Given the description of an element on the screen output the (x, y) to click on. 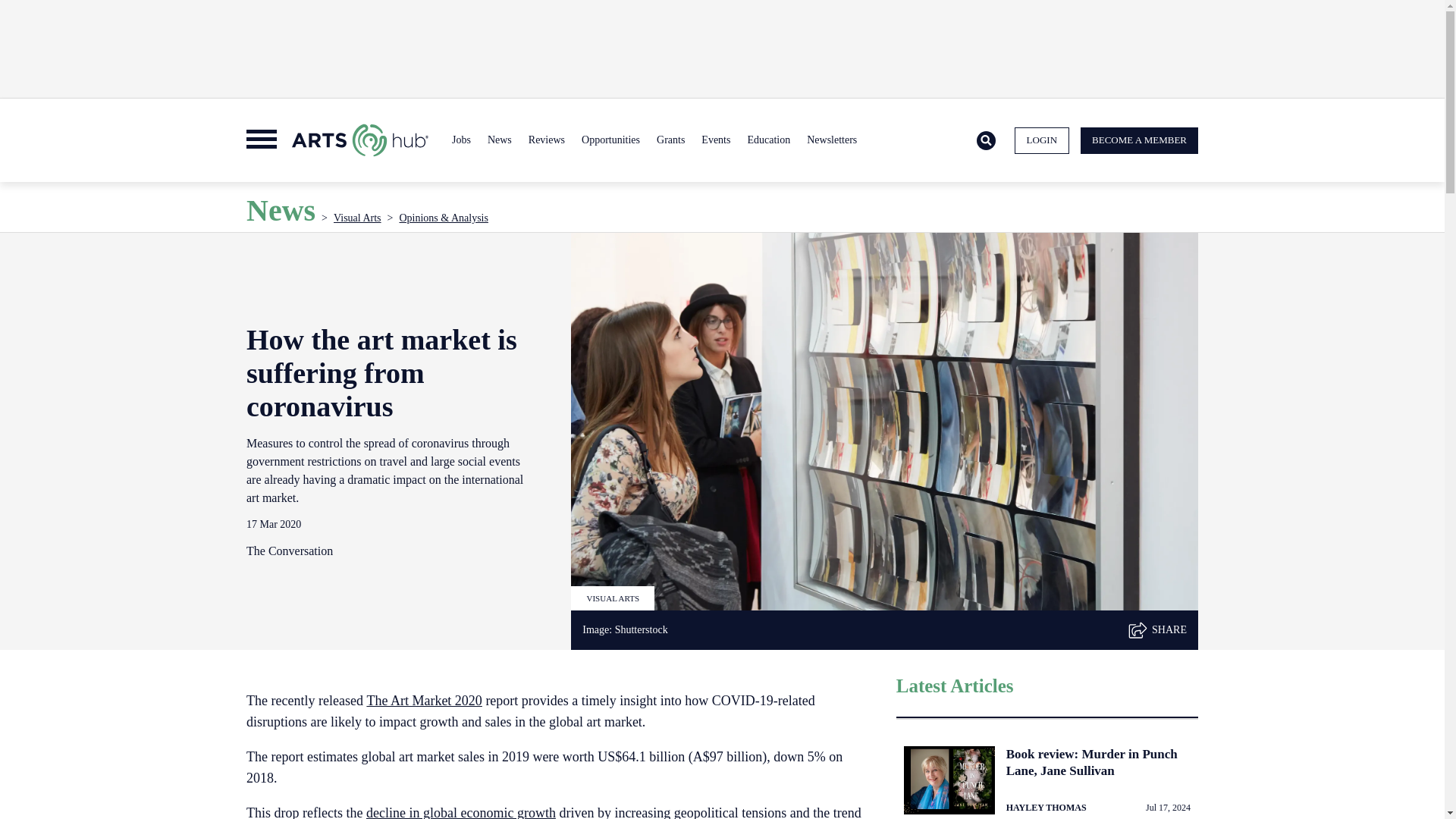
Reviews (546, 139)
Education (768, 139)
Jobs (461, 139)
BECOME A MEMBER (1139, 140)
Search Icon (985, 140)
Search Icon (985, 139)
News (498, 139)
LOGIN (1041, 140)
Newsletters (832, 139)
Grants (670, 139)
Events (715, 139)
Opportunities (610, 139)
